Given the description of an element on the screen output the (x, y) to click on. 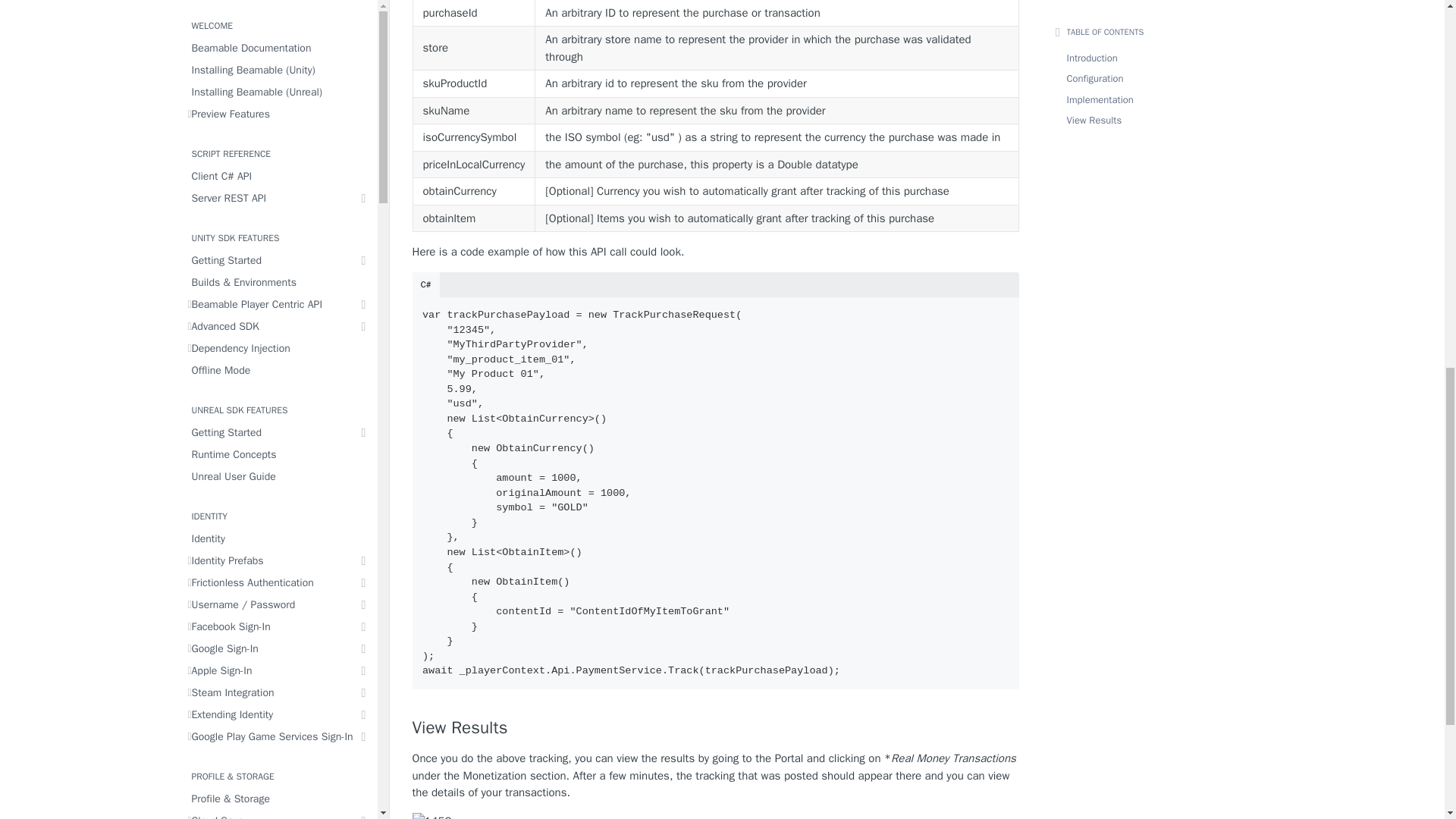
View Results (715, 727)
